Given the description of an element on the screen output the (x, y) to click on. 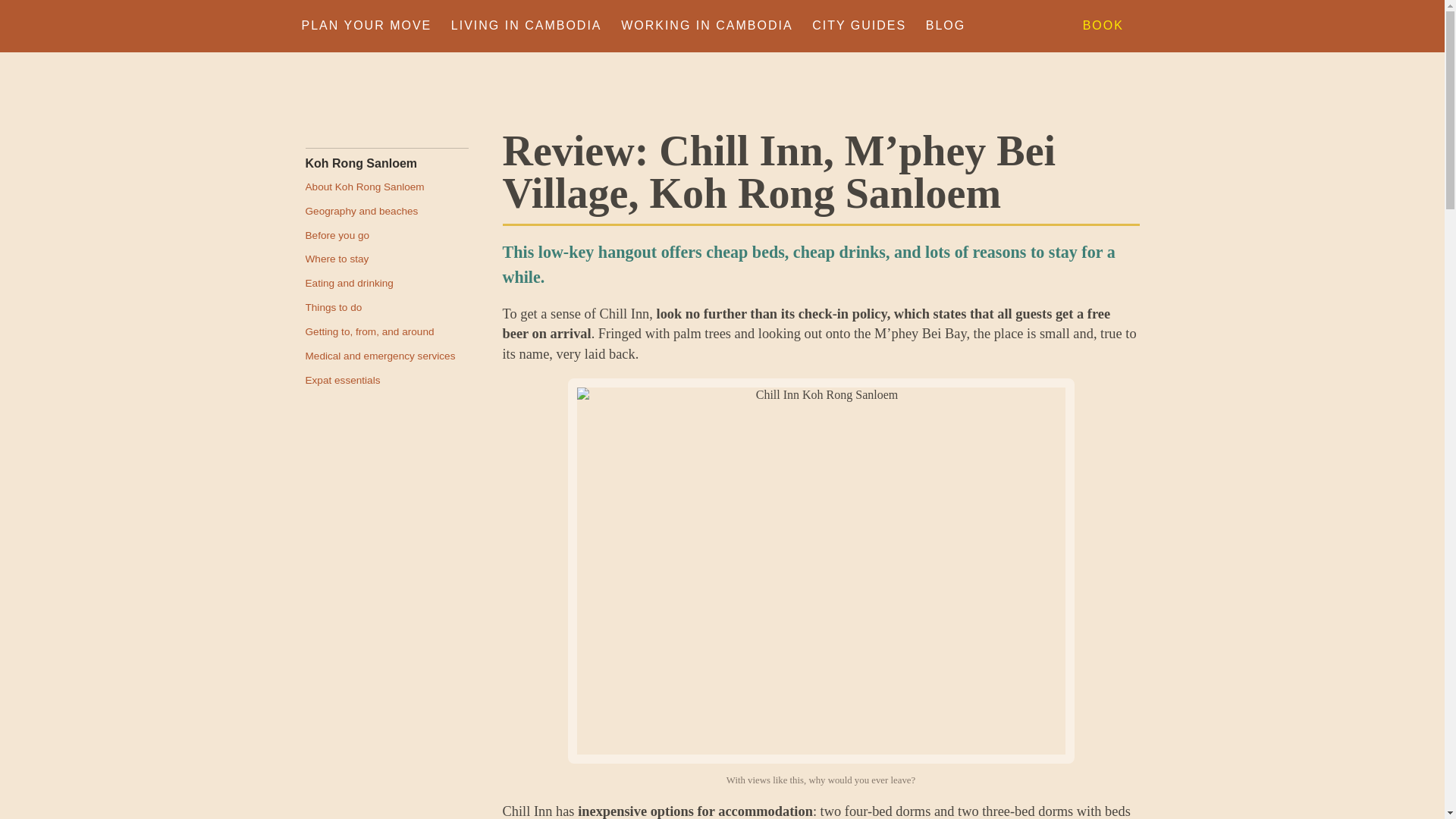
Move to Cambodia (419, 84)
BLOG (945, 26)
Where to stay (385, 258)
About Koh Rong Sanloem (385, 185)
Expat essentials (385, 379)
Geography and beaches (385, 209)
CITY GUIDES (858, 26)
BOOK (1103, 26)
Before you go (385, 233)
PLAN YOUR MOVE (366, 26)
